Given the description of an element on the screen output the (x, y) to click on. 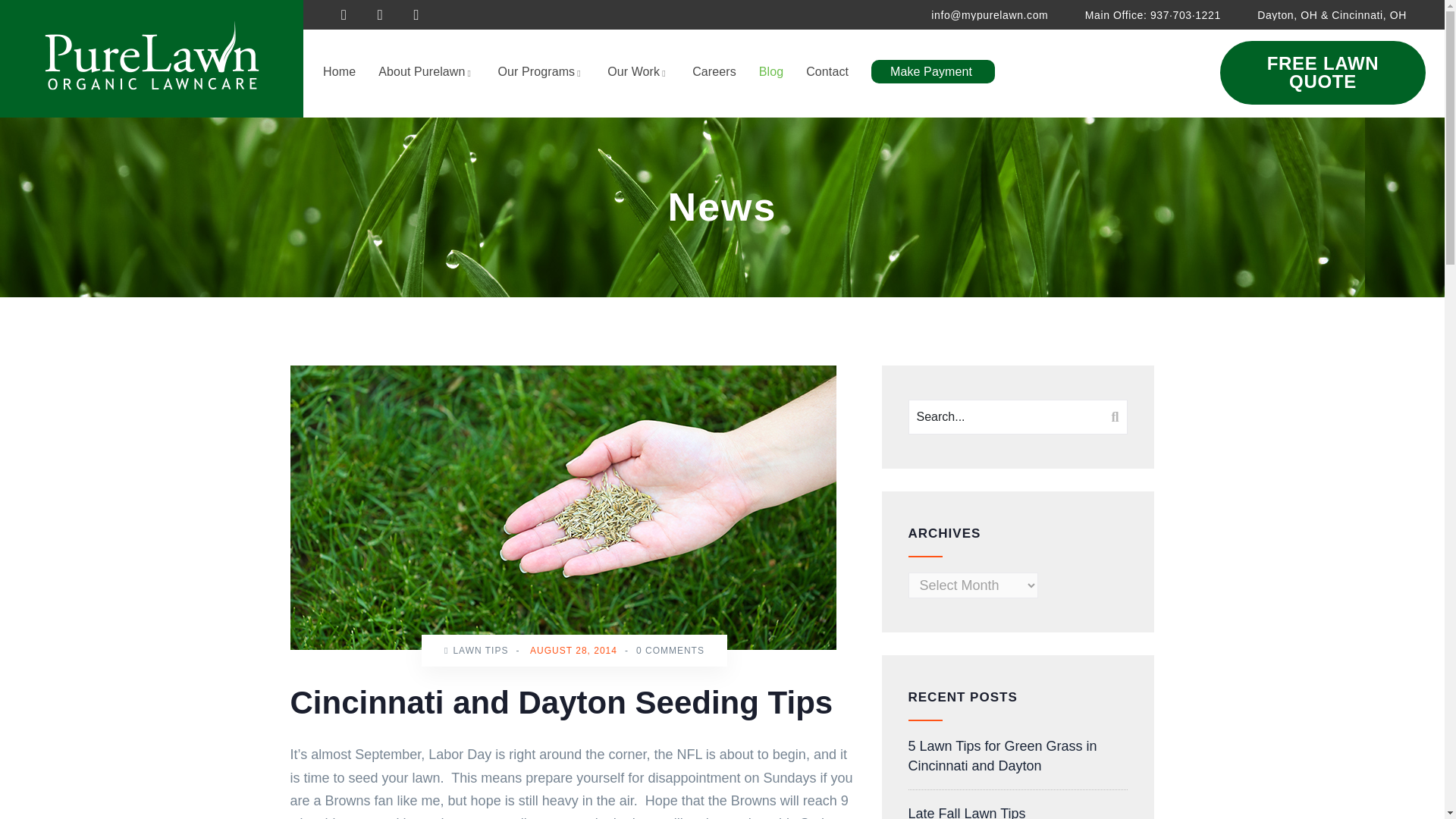
Home (151, 58)
About Purelawn (437, 72)
Home (350, 72)
